Given the description of an element on the screen output the (x, y) to click on. 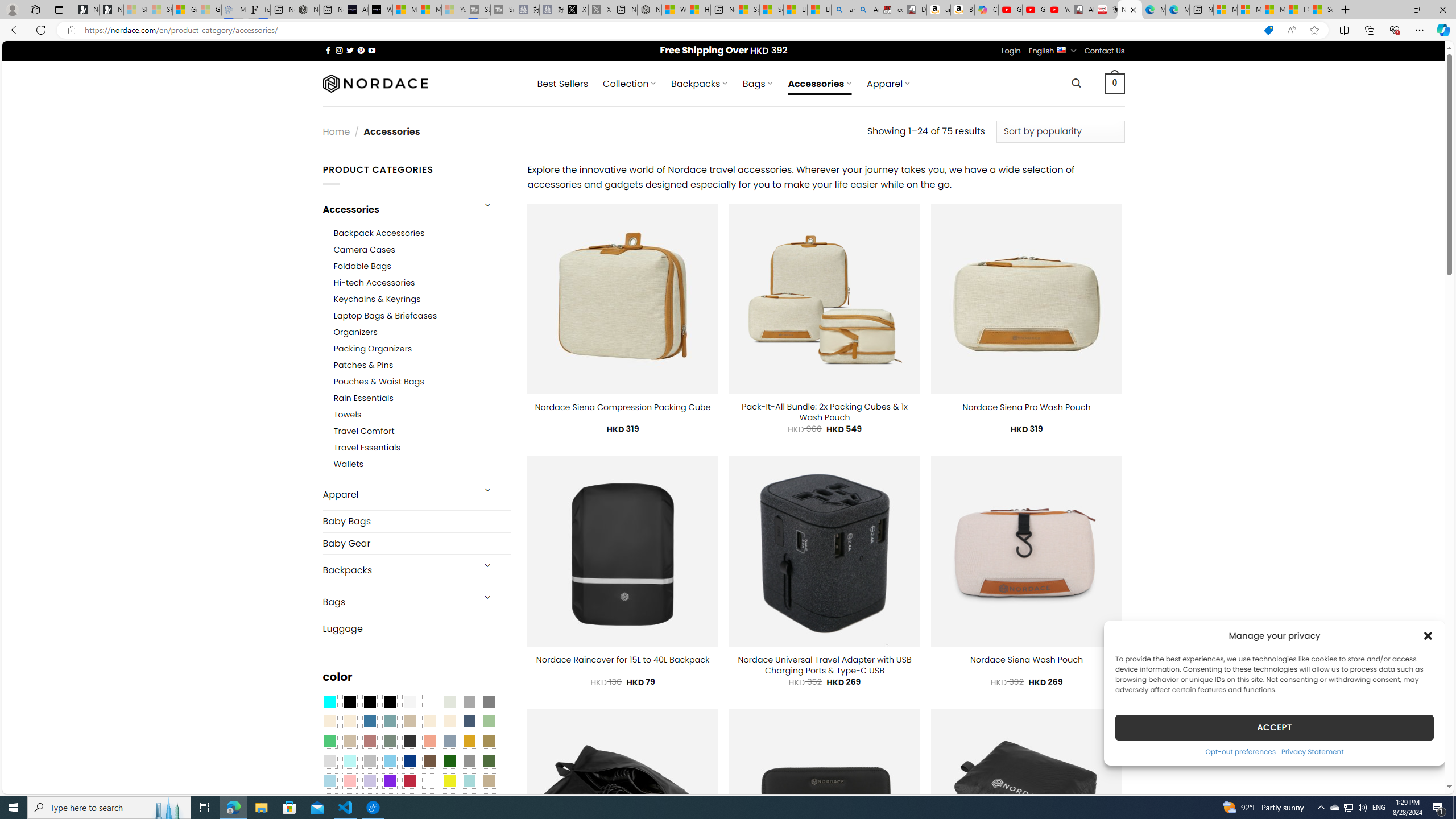
Pouches & Waist Bags (378, 381)
All Gray (488, 701)
Red (408, 780)
Nordace - Accessories (1129, 9)
Coral (429, 741)
Green (488, 761)
English (1061, 49)
Cream (449, 721)
Khaki (488, 780)
Contact Us (1104, 50)
Follow on Facebook (327, 49)
